Given the description of an element on the screen output the (x, y) to click on. 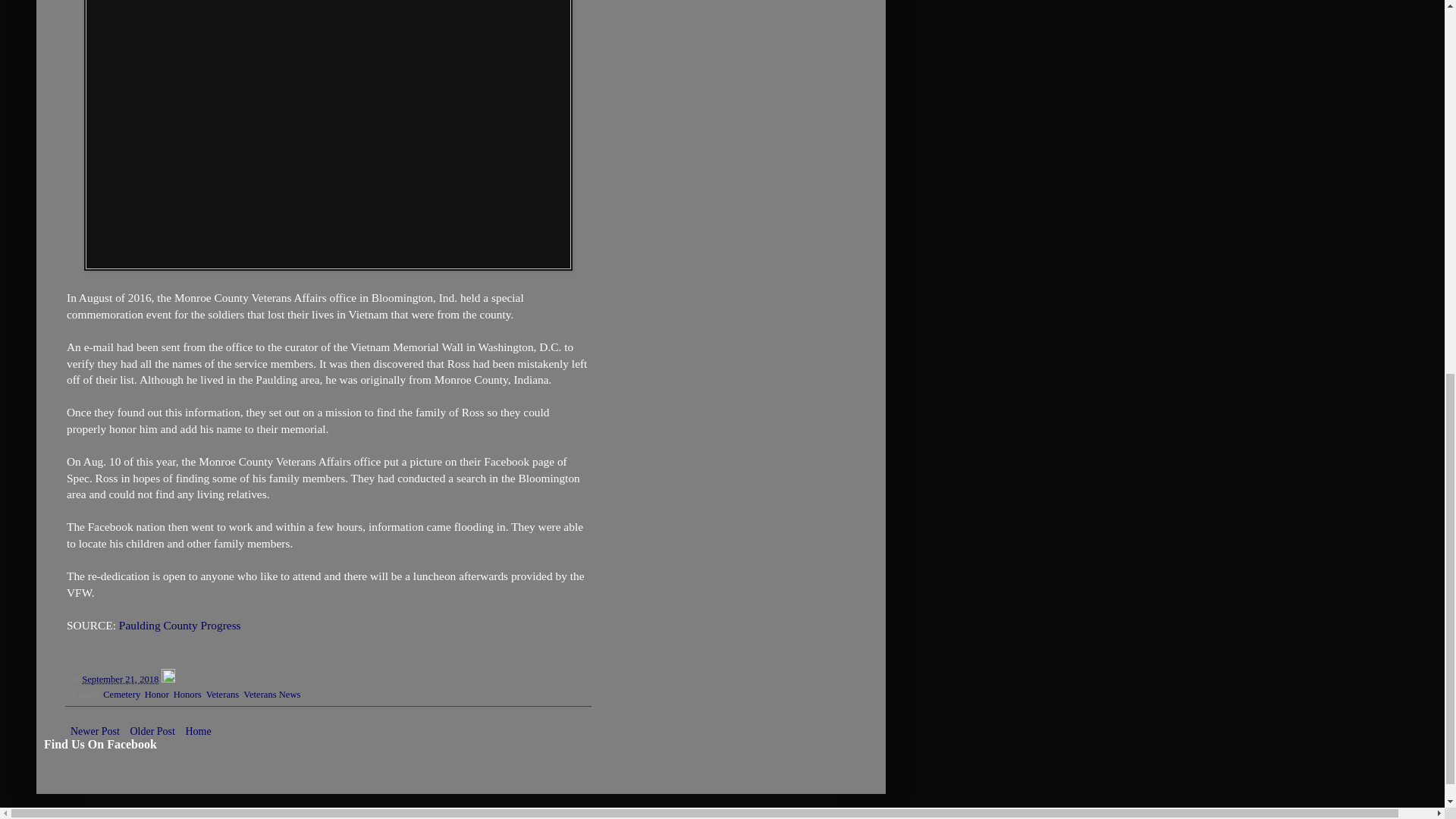
permanent link (119, 679)
Newer Post (94, 731)
September 21, 2018 (119, 679)
Edit Post (167, 679)
Cemetery (121, 694)
Paulding County Progress (180, 625)
Veterans News (271, 694)
Newer Post (94, 731)
Honors (187, 694)
Home (197, 731)
